Given the description of an element on the screen output the (x, y) to click on. 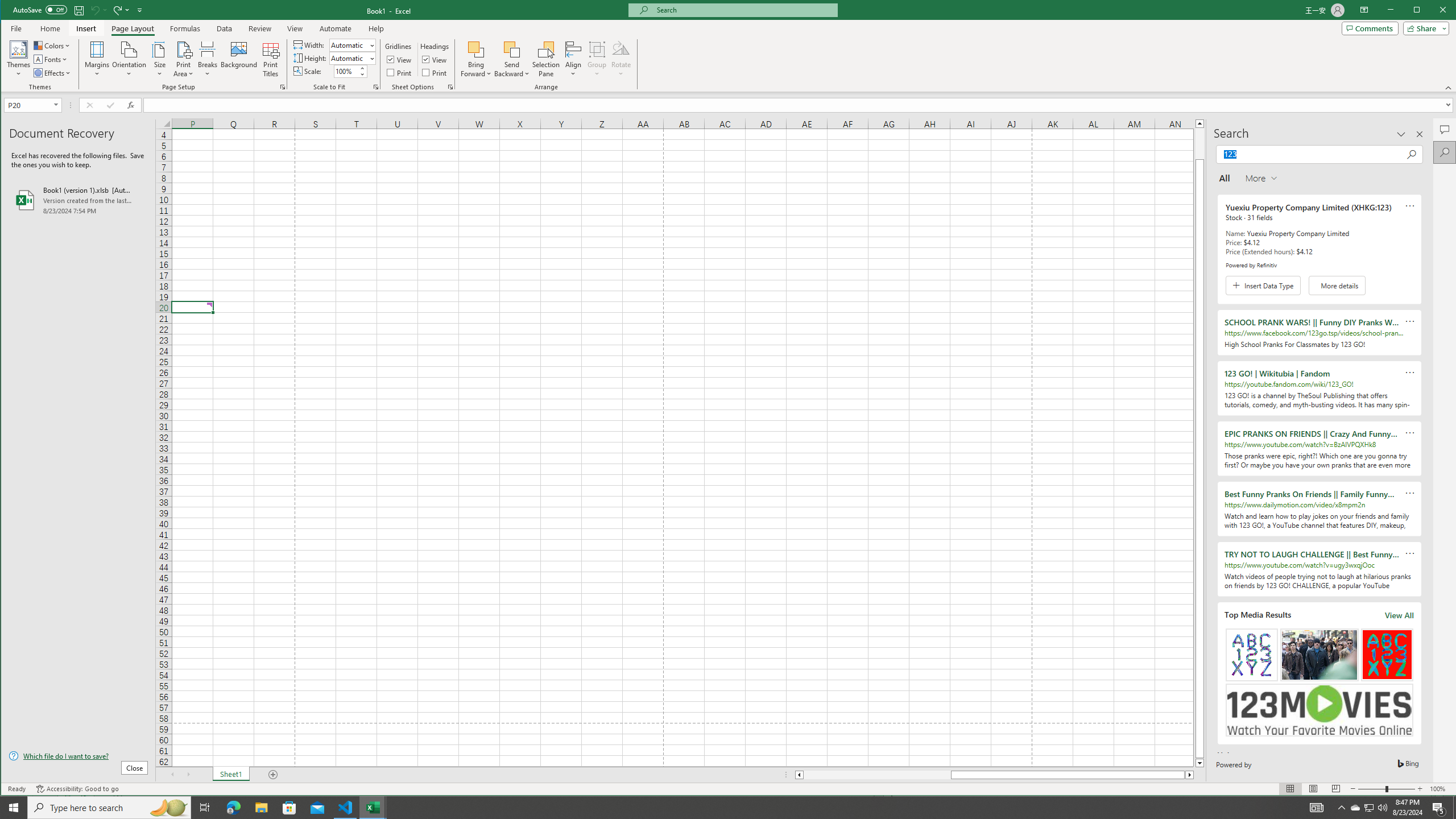
Selection Pane... (546, 59)
Scale (345, 71)
Fonts (51, 59)
More (361, 68)
Colors (53, 45)
Print (434, 72)
Start (13, 807)
